Given the description of an element on the screen output the (x, y) to click on. 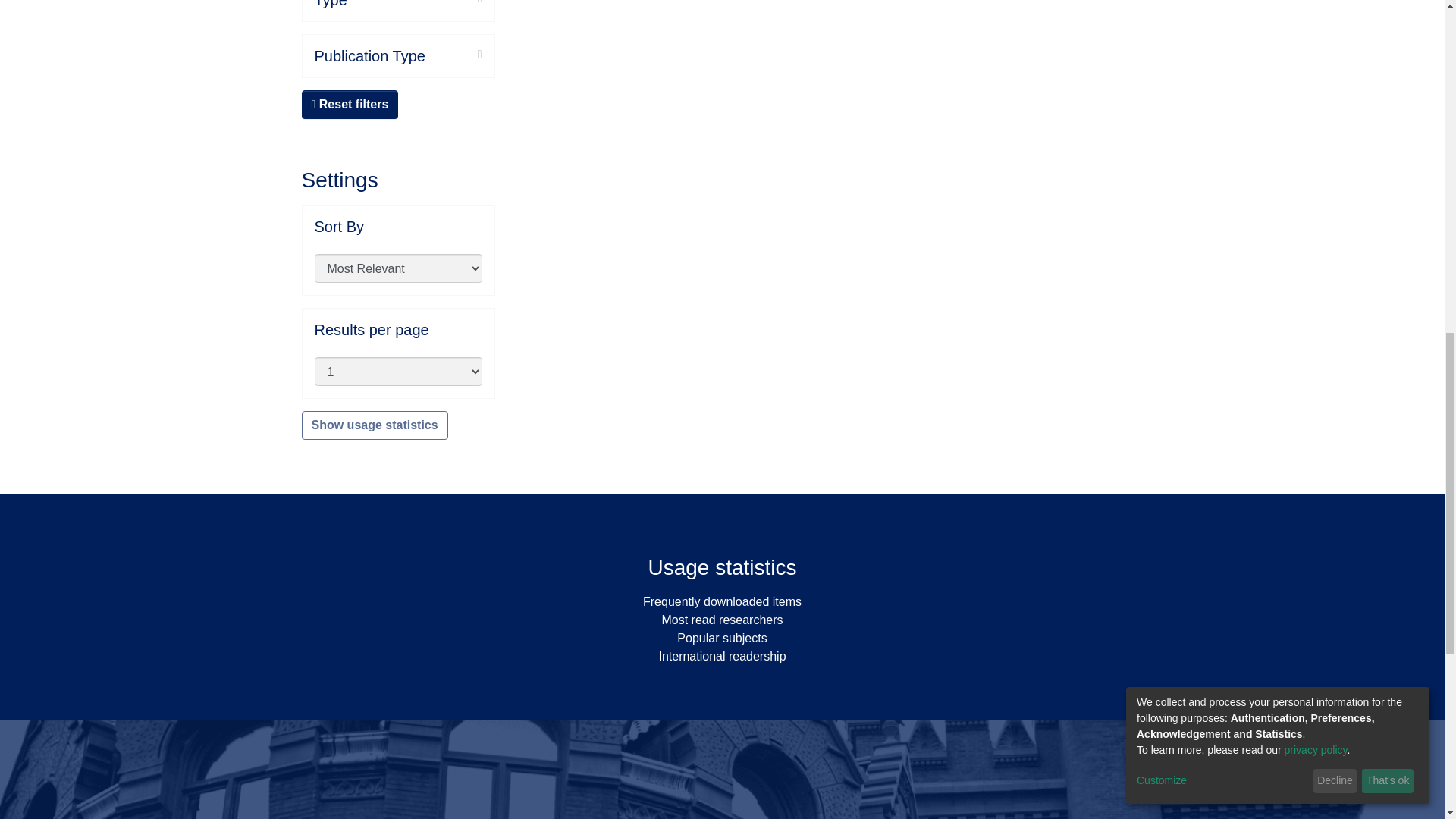
Expand filter (453, 54)
Type (397, 4)
Publication Type (397, 55)
Reset filters (349, 104)
Expand filter (414, 3)
Frequently downloaded items (722, 601)
